Given the description of an element on the screen output the (x, y) to click on. 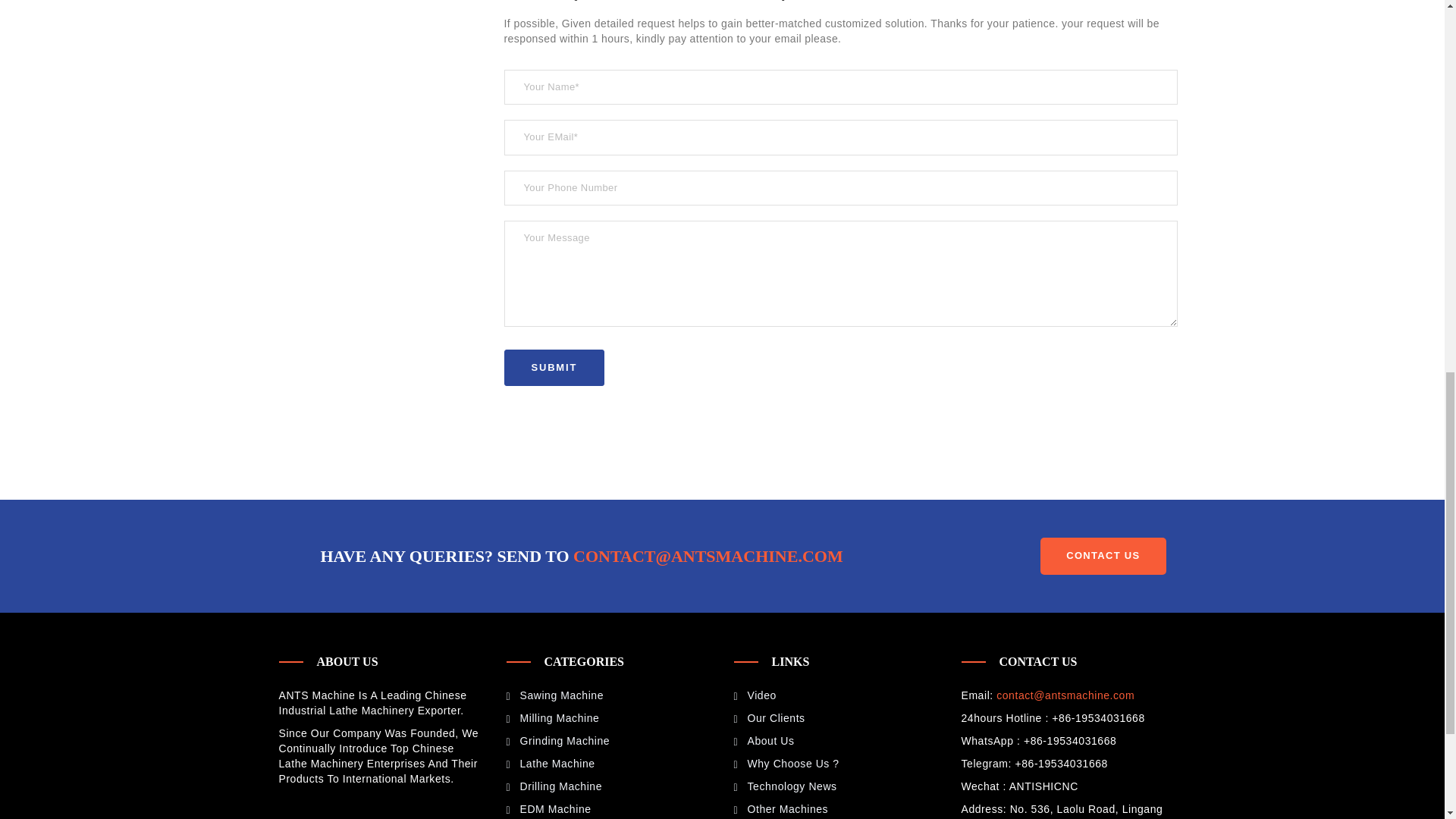
Submit (553, 367)
Submit (553, 367)
Contact Us (1103, 555)
